Given the description of an element on the screen output the (x, y) to click on. 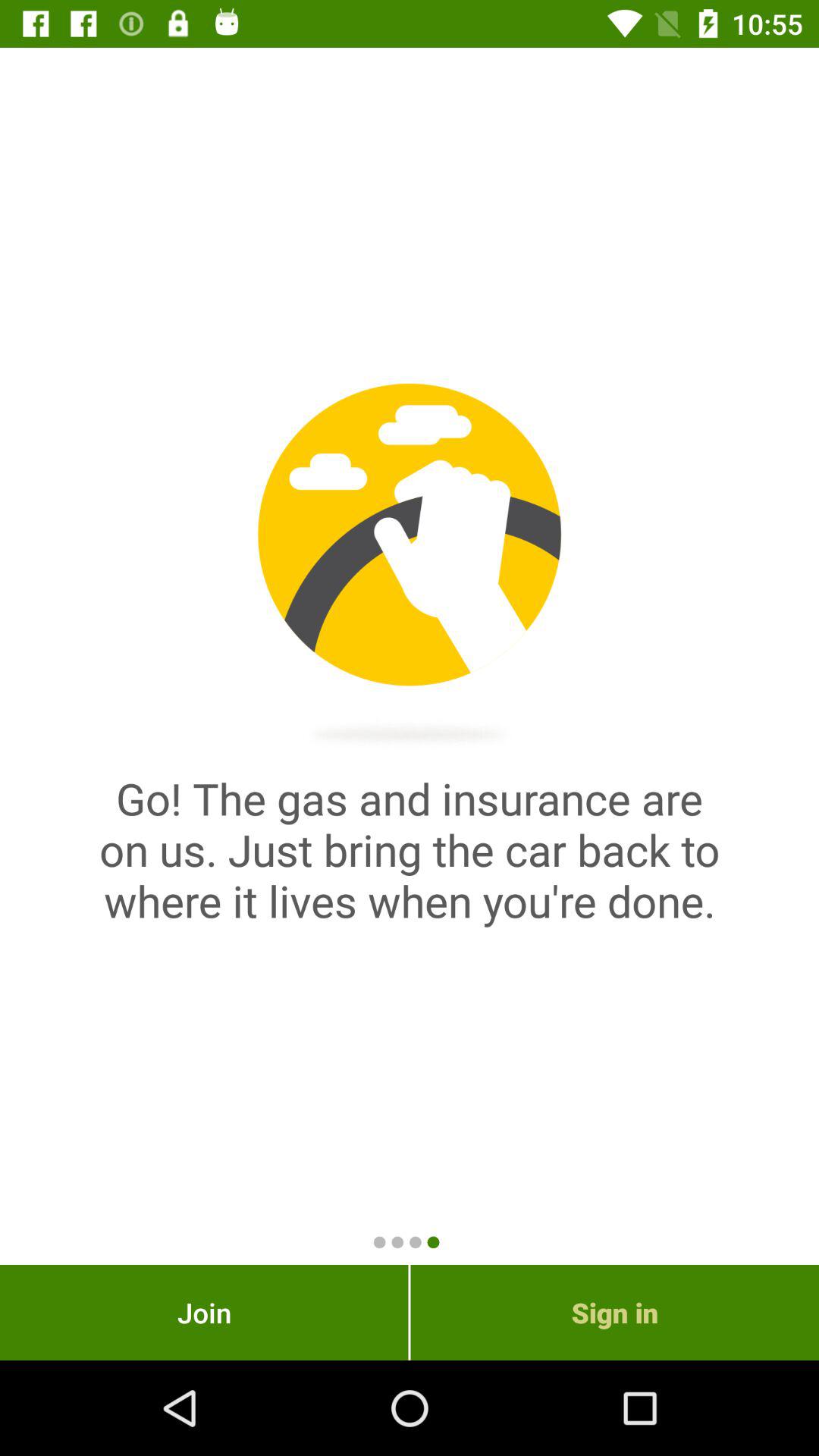
launch the join icon (204, 1312)
